Given the description of an element on the screen output the (x, y) to click on. 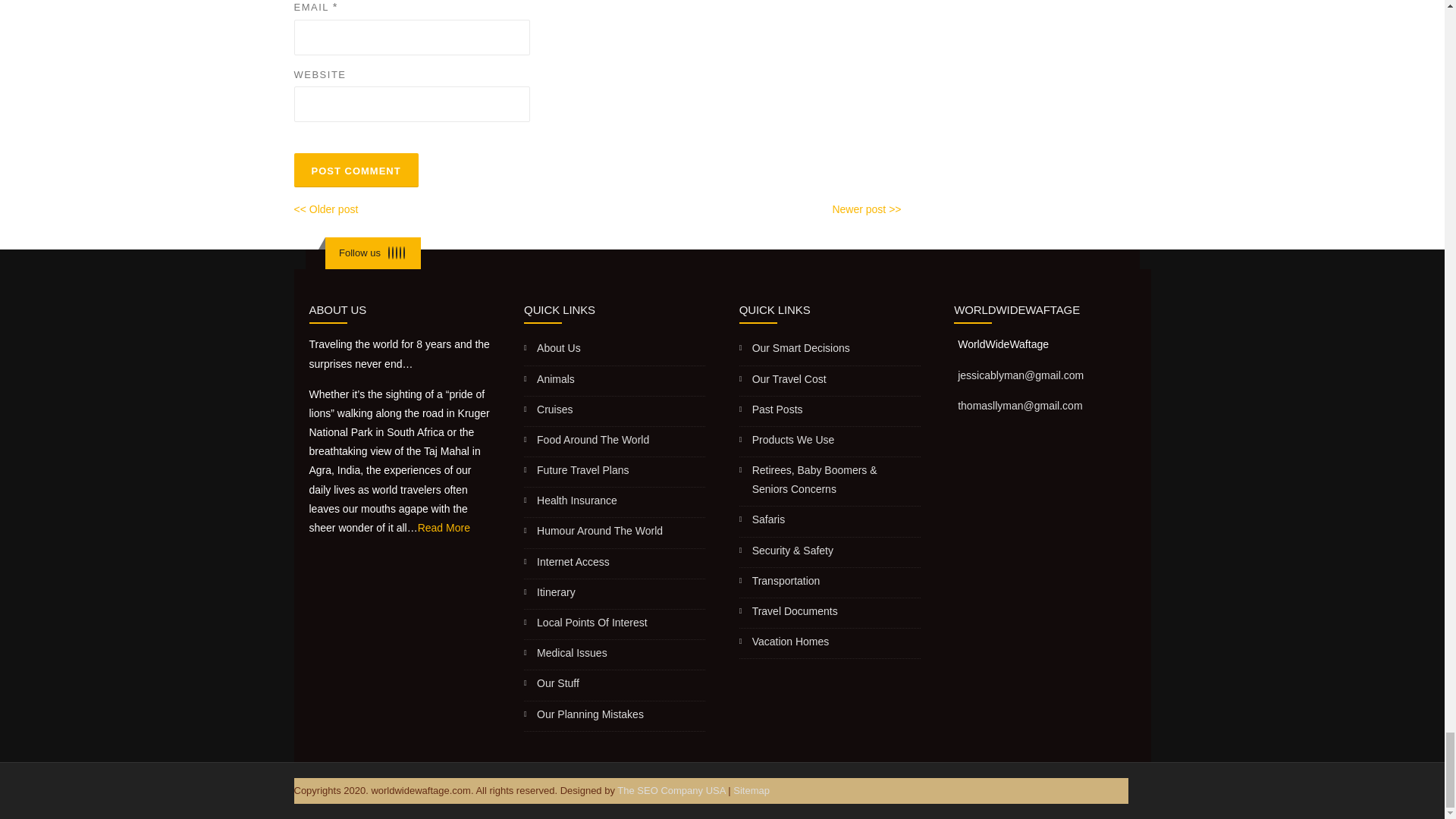
Post Comment (356, 170)
Instagram (399, 252)
